Given the description of an element on the screen output the (x, y) to click on. 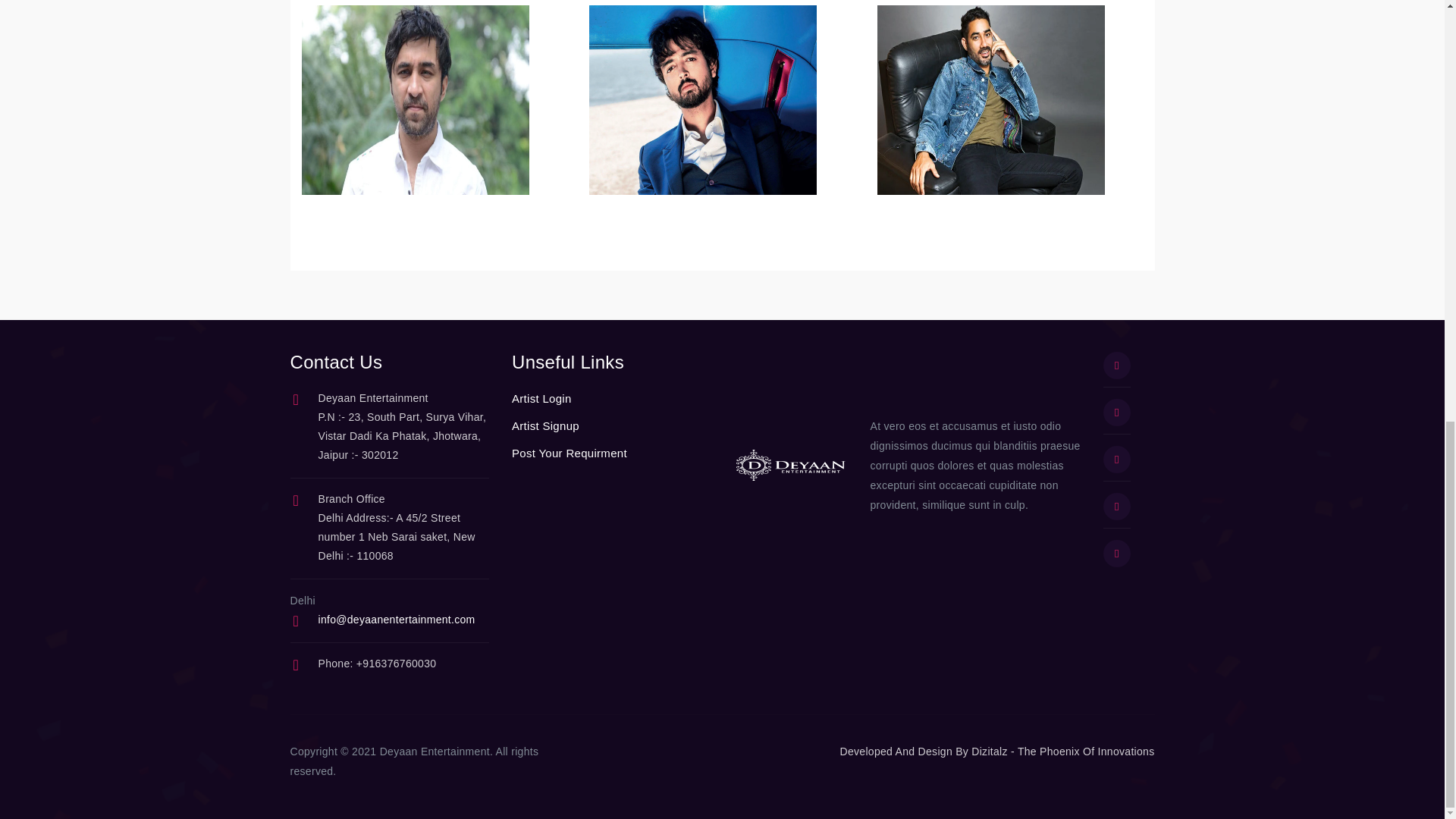
Artist Login (542, 398)
Post Your Requirment (569, 453)
Artist Signup (545, 425)
